Given the description of an element on the screen output the (x, y) to click on. 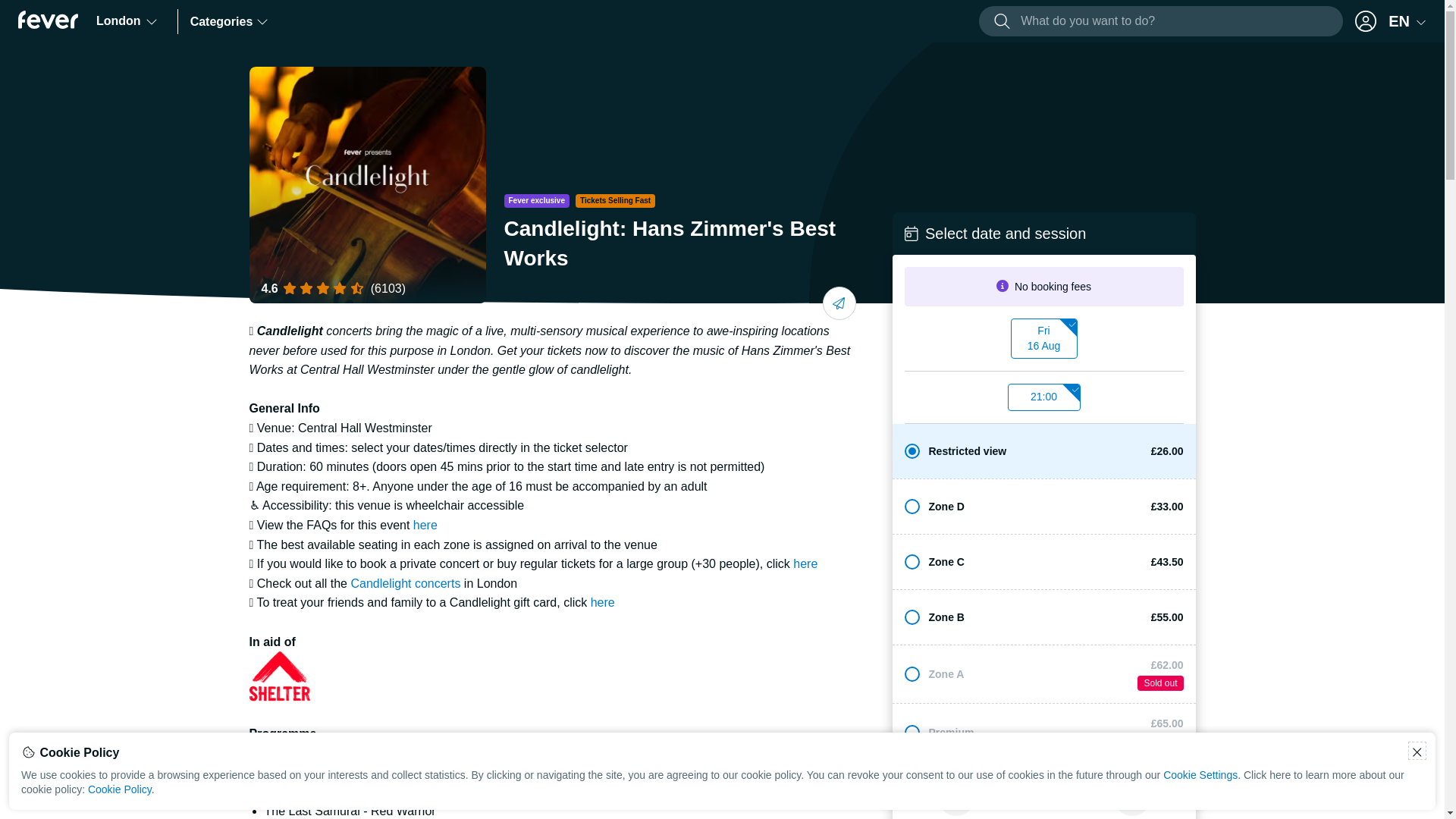
London (127, 21)
Candlelight: Hans Zimmer's Best Works (1043, 338)
21:00 (366, 184)
